Given the description of an element on the screen output the (x, y) to click on. 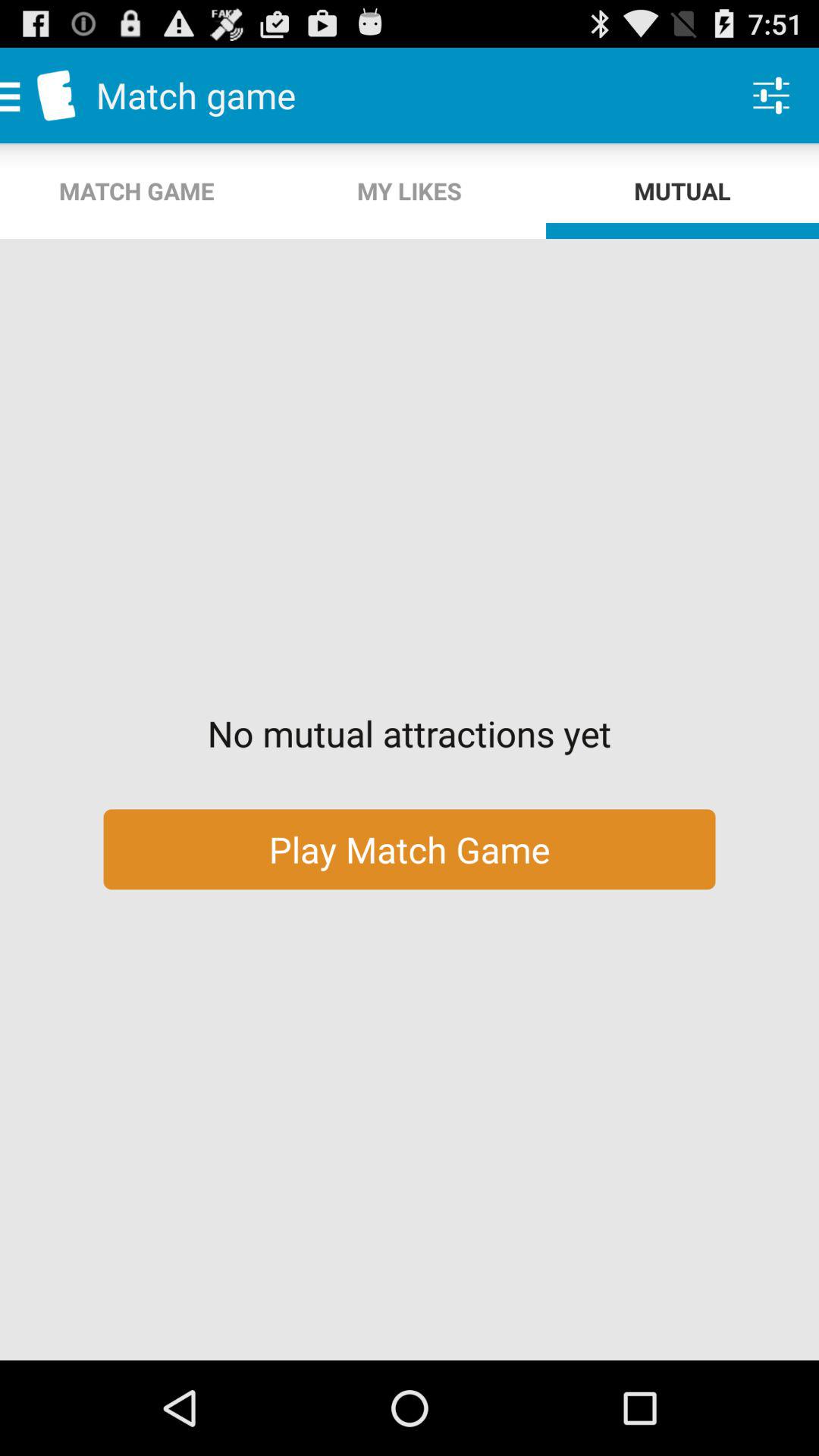
choose icon to the left of mutual (409, 190)
